Given the description of an element on the screen output the (x, y) to click on. 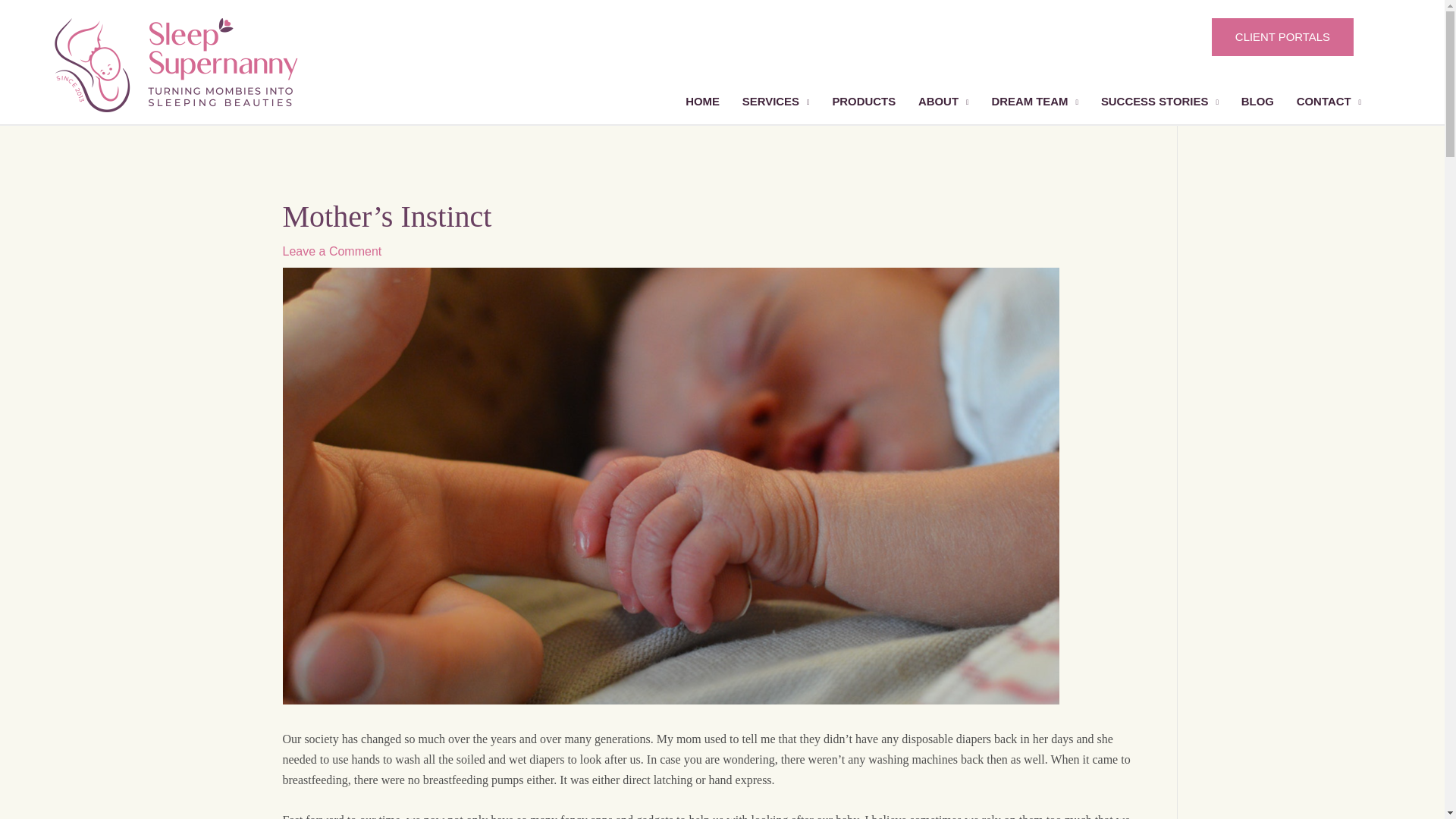
SERVICES (775, 101)
BLOG (1257, 101)
HOME (702, 101)
CONTACT (1329, 101)
DREAM TEAM (1034, 101)
PRODUCTS (864, 101)
CLIENT PORTALS (1282, 36)
SUCCESS STORIES (1159, 101)
ABOUT (943, 101)
